Given the description of an element on the screen output the (x, y) to click on. 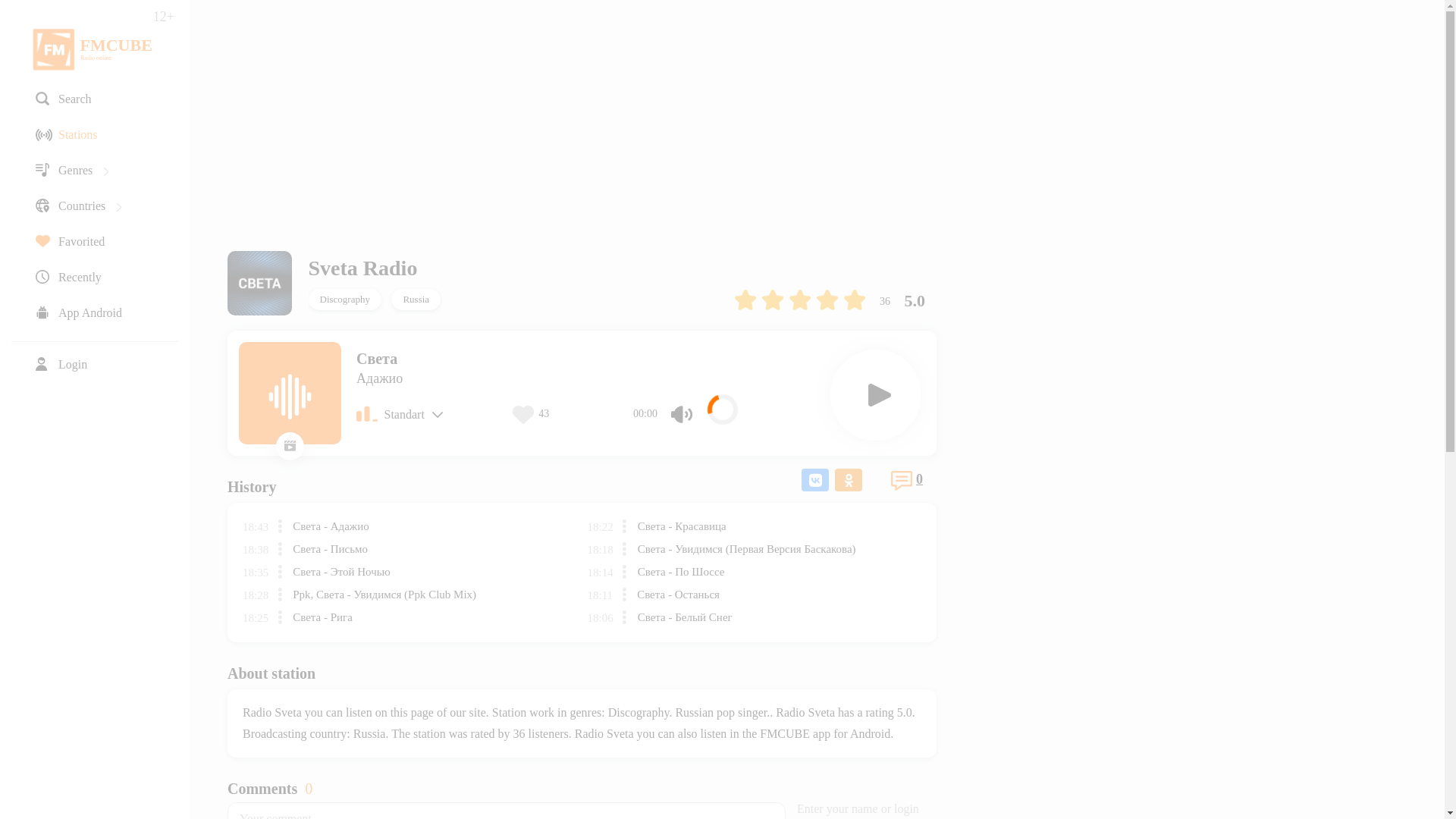
FMCUBE - free online radio (53, 49)
